Given the description of an element on the screen output the (x, y) to click on. 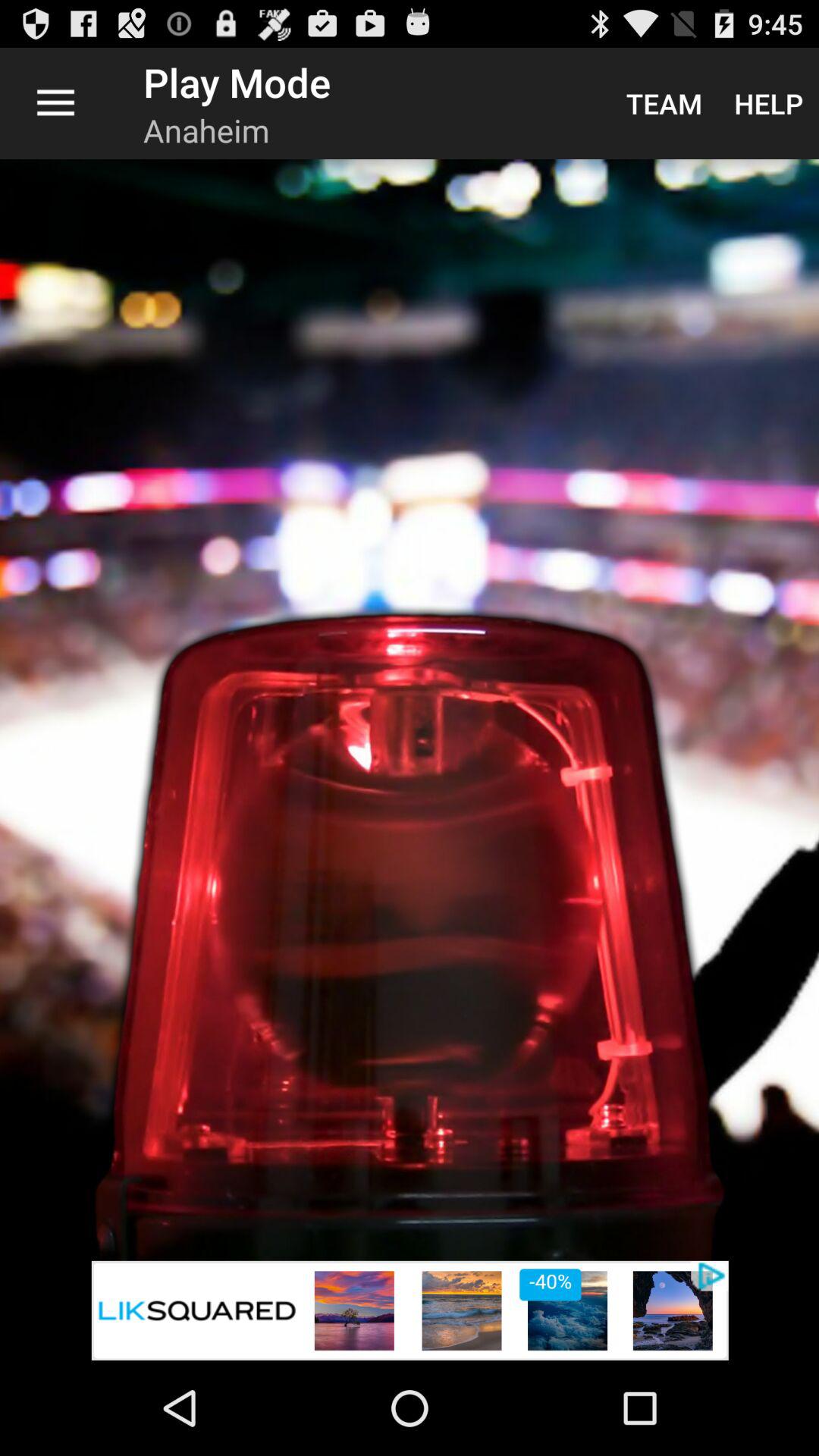
jump to team icon (664, 103)
